Given the description of an element on the screen output the (x, y) to click on. 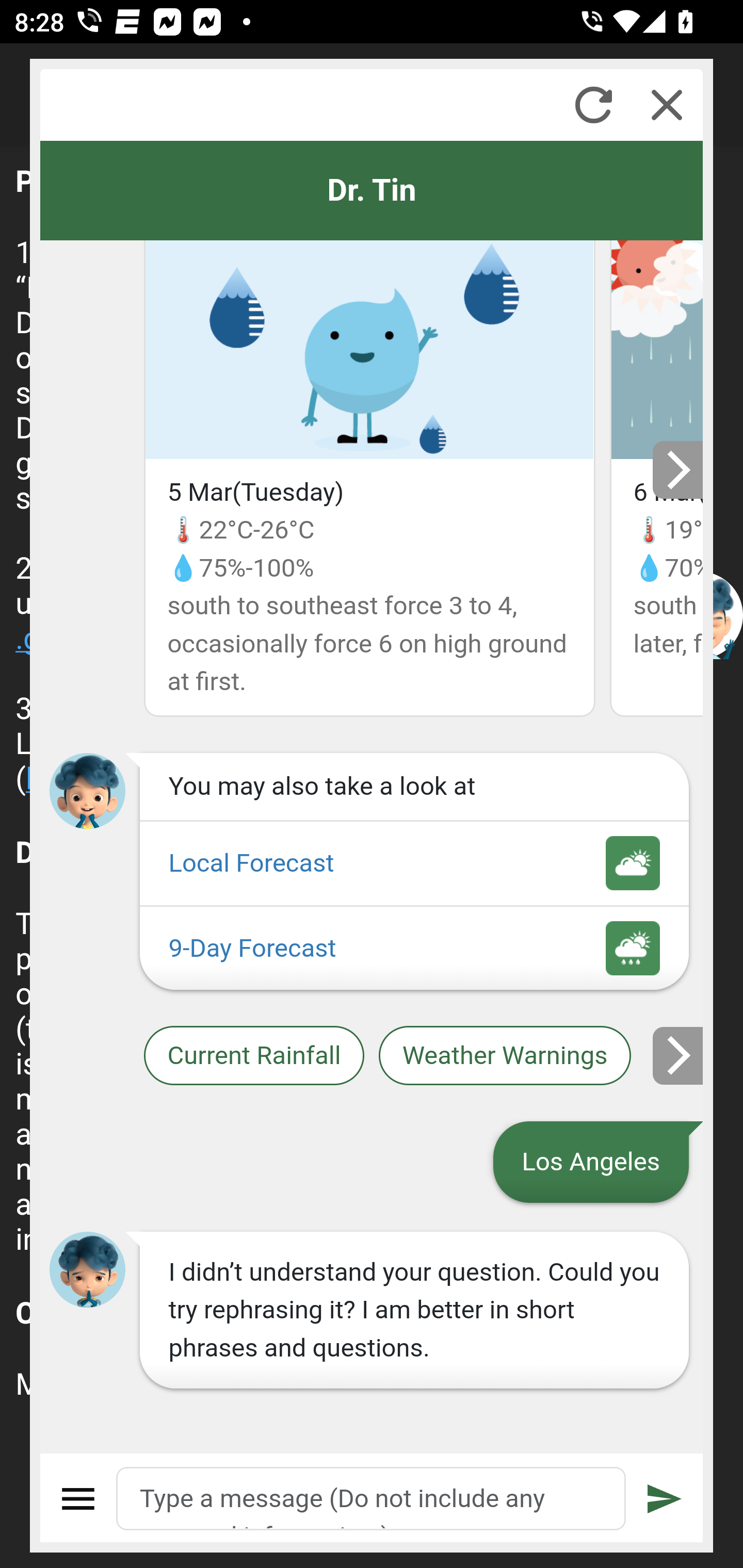
Refresh (593, 104)
Close (666, 104)
Next slide (678, 470)
Local Forecast (413, 864)
9-Day Forecast (413, 948)
Current Rainfall (253, 1055)
Weather Warnings (504, 1055)
Next slide (678, 1055)
Menu (78, 1498)
Submit (665, 1498)
